Given the description of an element on the screen output the (x, y) to click on. 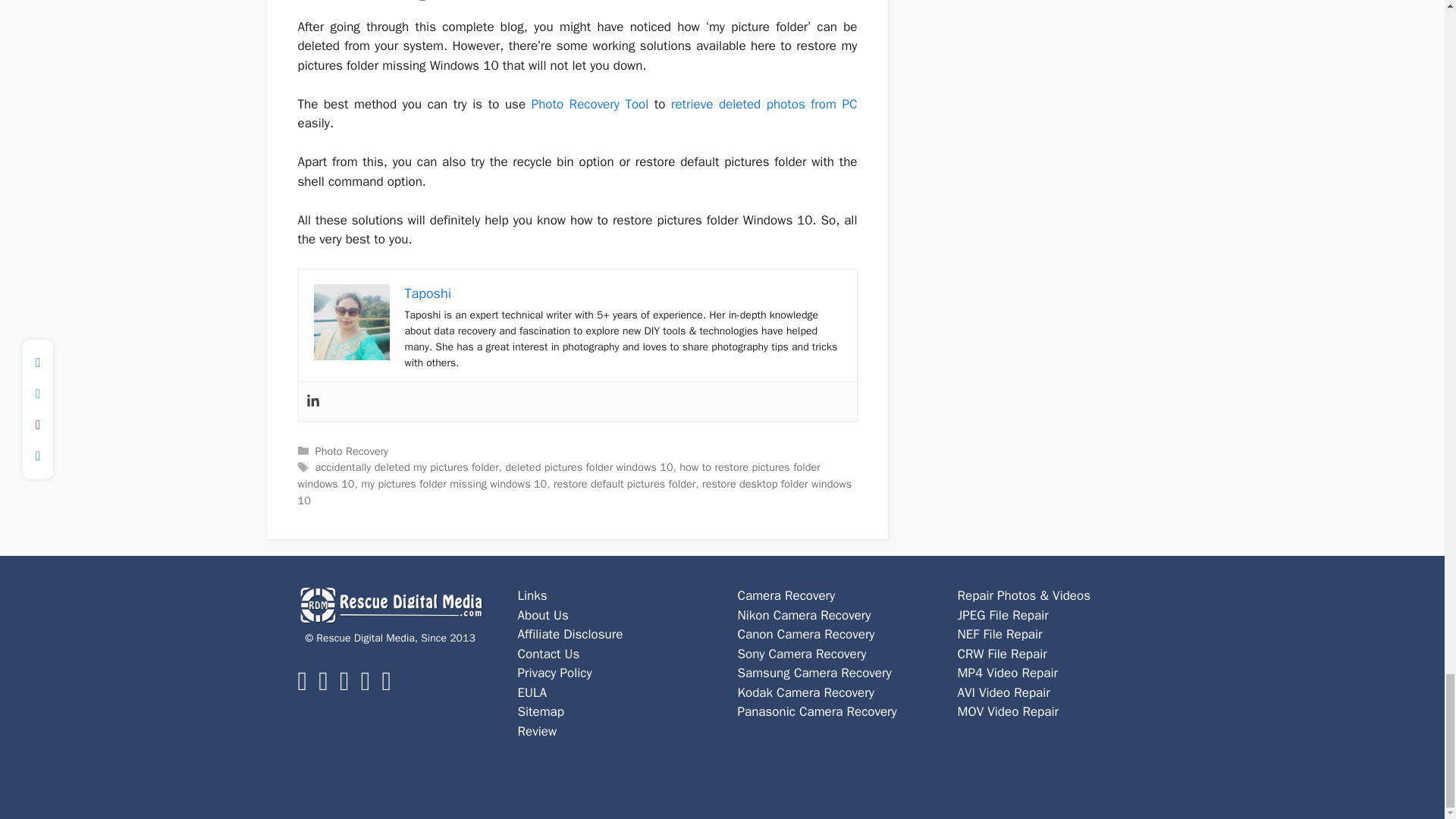
Photo Recovery Tool (590, 104)
Taposhi (427, 293)
accidentally deleted my pictures folder (407, 467)
deleted pictures folder windows 10 (588, 467)
how to restore pictures folder windows 10 (558, 475)
Photo Recovery (351, 450)
my pictures folder missing windows 10 (454, 483)
restore default pictures folder (624, 483)
retrieve deleted photos from PC (764, 104)
restore desktop folder windows 10 (574, 491)
